Given the description of an element on the screen output the (x, y) to click on. 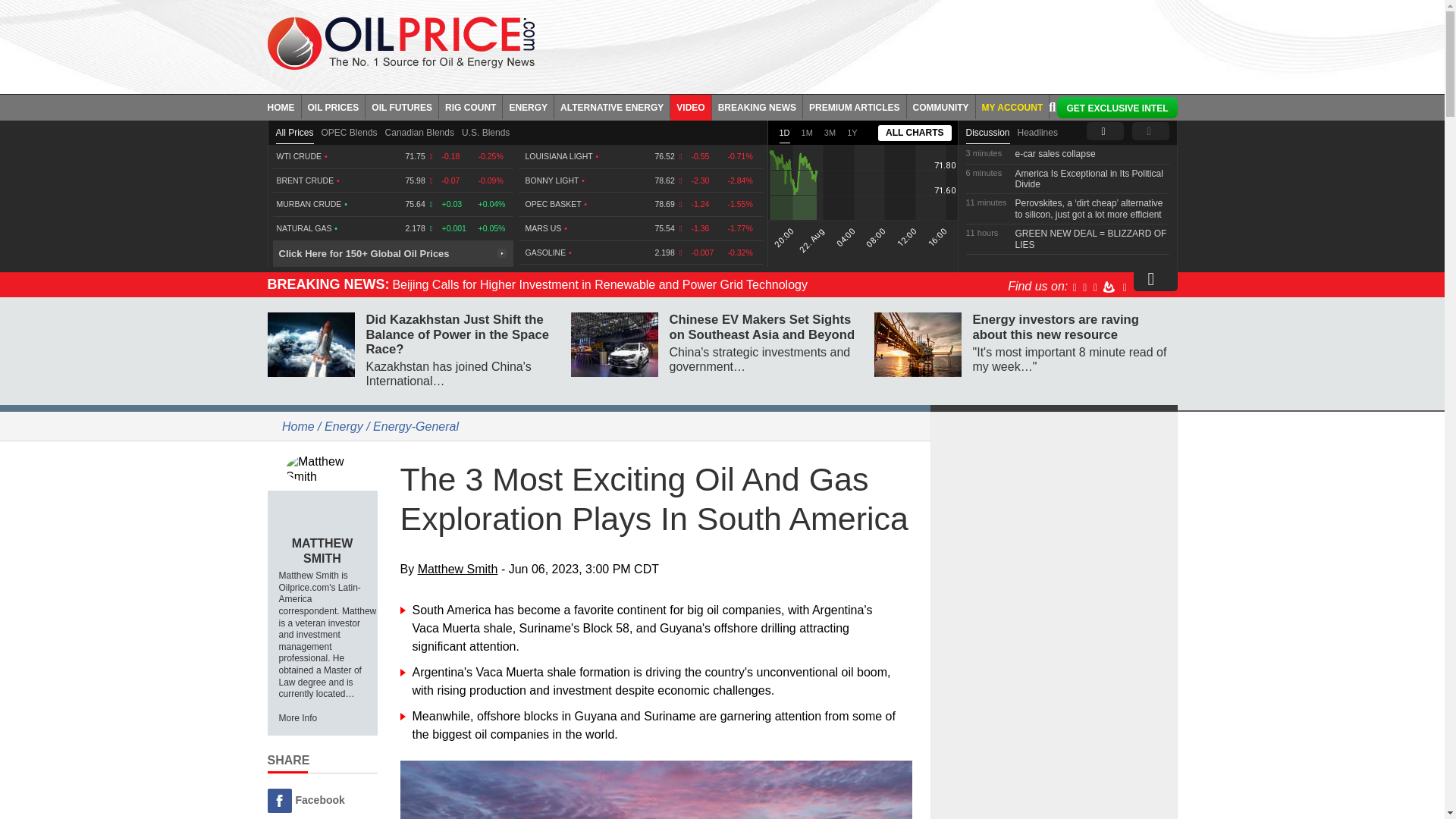
BREAKING NEWS (757, 106)
VIDEO (690, 106)
Chinese EV Makers Set Sights on Southeast Asia and Beyond (614, 344)
oil and gas (656, 789)
ENERGY (528, 106)
PREMIUM ARTICLES (855, 106)
MY ACCOUNT (1012, 106)
RIG COUNT (470, 106)
OIL PRICES (333, 106)
Oil prices - Oilprice.com (400, 42)
